Given the description of an element on the screen output the (x, y) to click on. 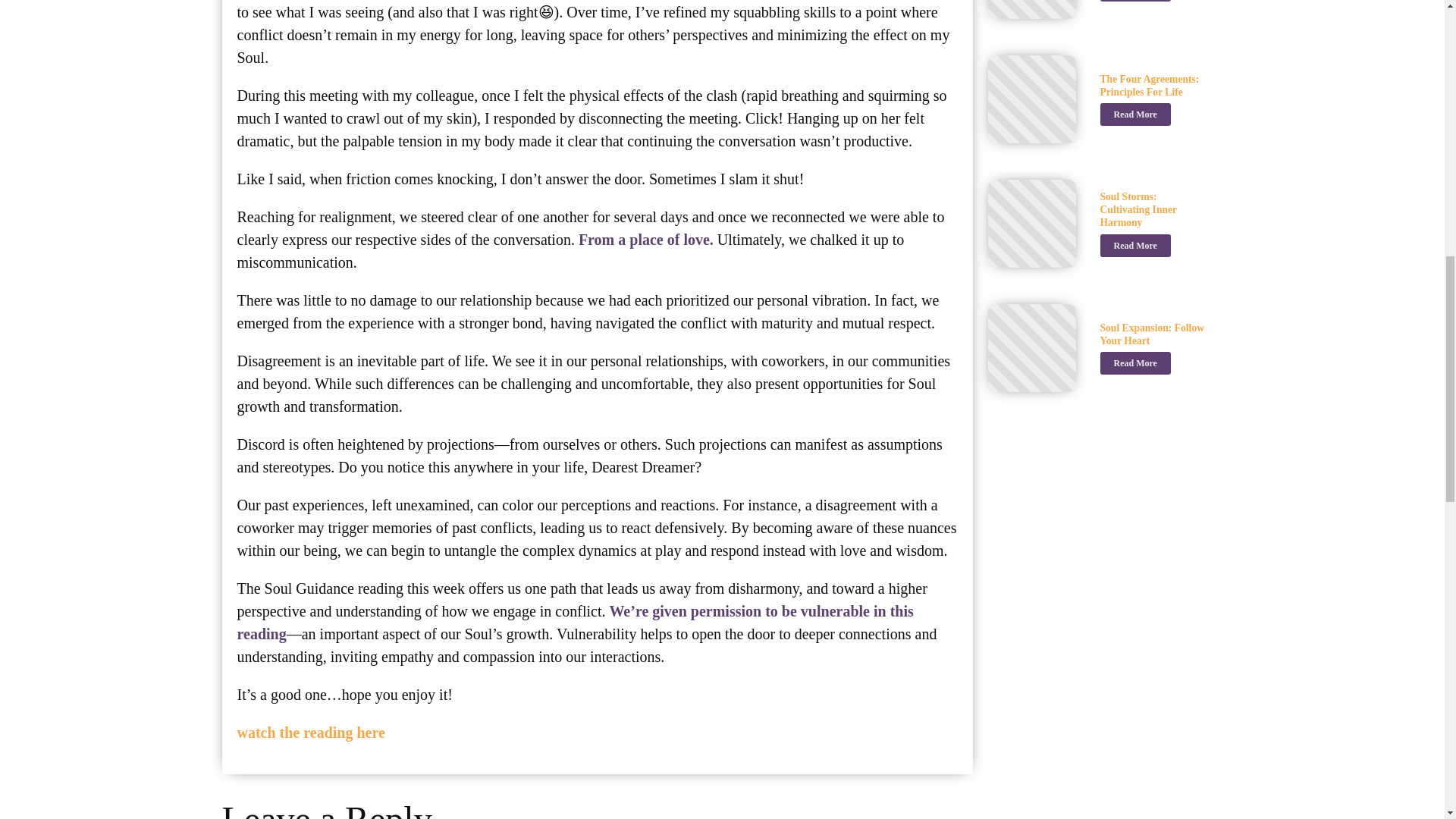
Read More (1134, 363)
Read More (1134, 245)
Read More (1134, 0)
Soul Storms: Cultivating Inner Harmony (1153, 209)
Read More (1134, 114)
The Four Agreements: Principles For Life (1153, 85)
Soul Expansion: Follow Your Heart (1153, 334)
watch the reading here (309, 732)
